Given the description of an element on the screen output the (x, y) to click on. 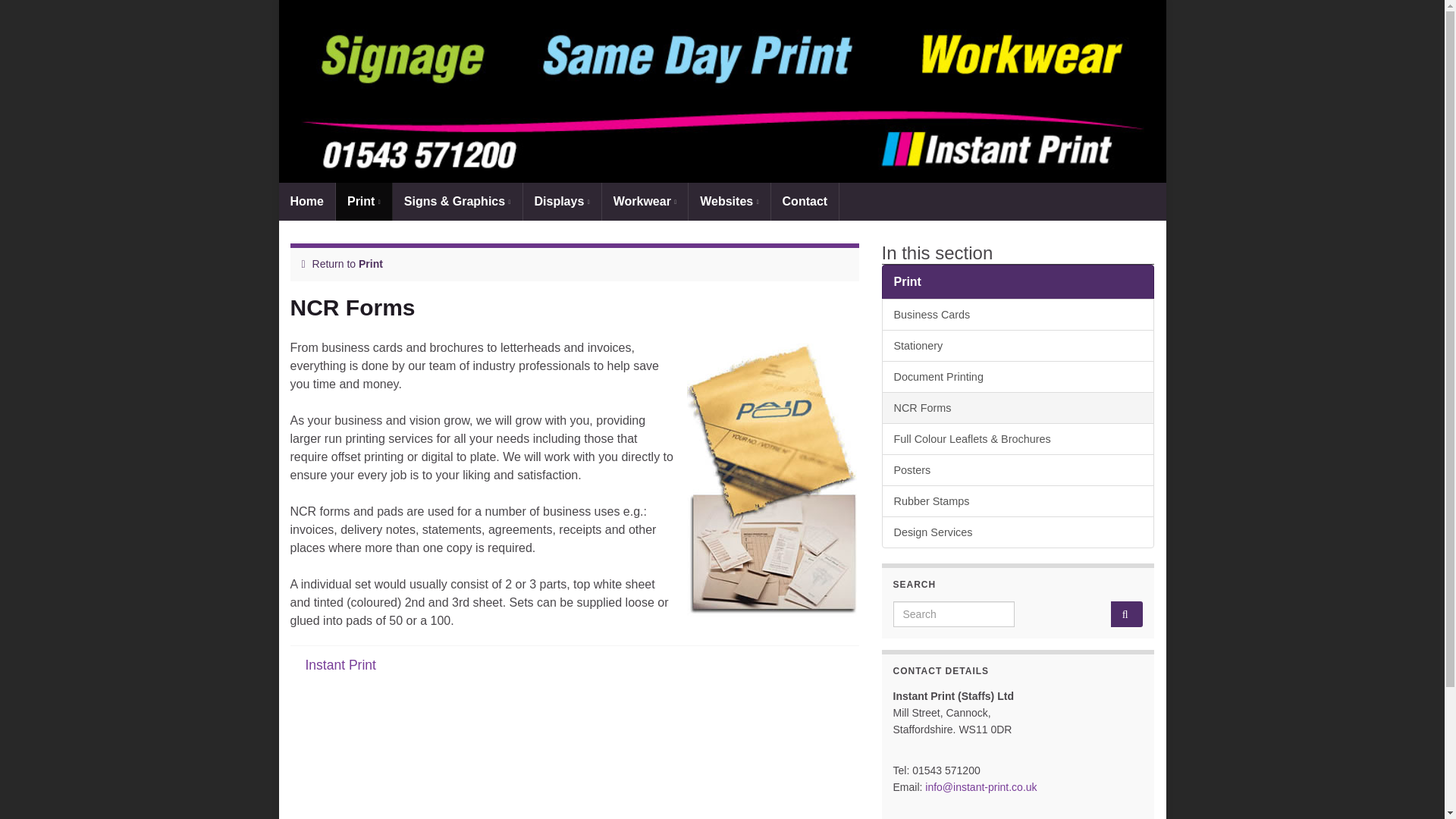
Websites (729, 201)
Contact (805, 201)
Workwear (645, 201)
Displays (561, 201)
Home (306, 201)
Instant Print (339, 664)
Print (370, 263)
Print (363, 201)
